Given the description of an element on the screen output the (x, y) to click on. 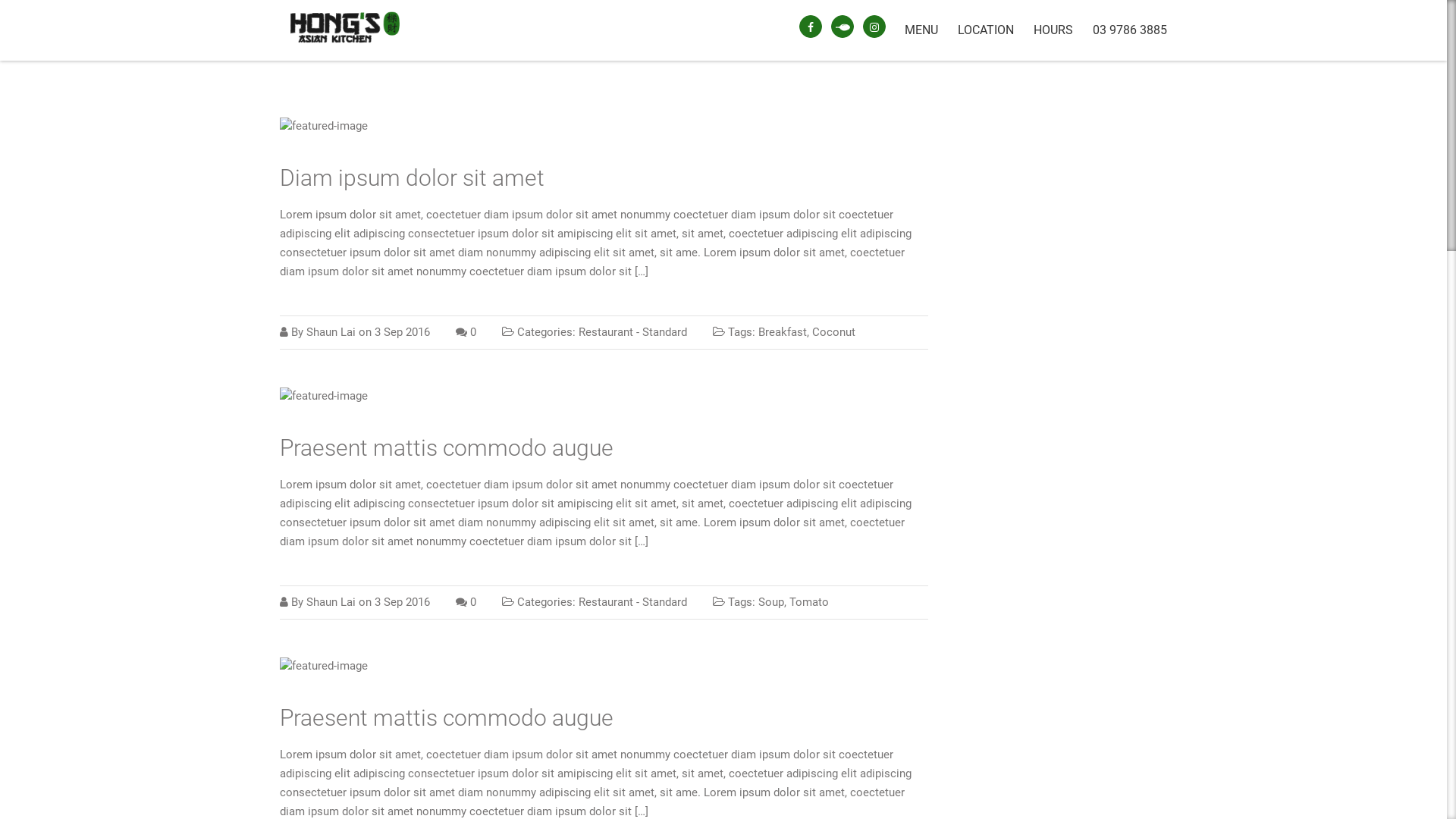
Shaun Lai Element type: text (330, 601)
Shaun Lai Element type: text (330, 331)
Restaurant Element type: text (605, 331)
0 Element type: text (473, 601)
MENU Element type: text (920, 30)
Standard Element type: text (664, 331)
Standard Element type: text (664, 601)
Restaurant Element type: text (605, 601)
03 9786 3885 Element type: text (1124, 30)
Breakfast Element type: text (782, 331)
3 Sep 2016 Element type: text (401, 331)
3 Sep 2016 Element type: text (401, 601)
Tomato Element type: text (808, 601)
Praesent mattis commodo augue Element type: text (446, 717)
Soup Element type: text (771, 601)
HOURS Element type: text (1052, 30)
Diam ipsum dolor sit amet Element type: text (411, 177)
Praesent mattis commodo augue Element type: text (446, 447)
LOCATION Element type: text (985, 30)
Coconut Element type: text (833, 331)
0 Element type: text (473, 331)
